Given the description of an element on the screen output the (x, y) to click on. 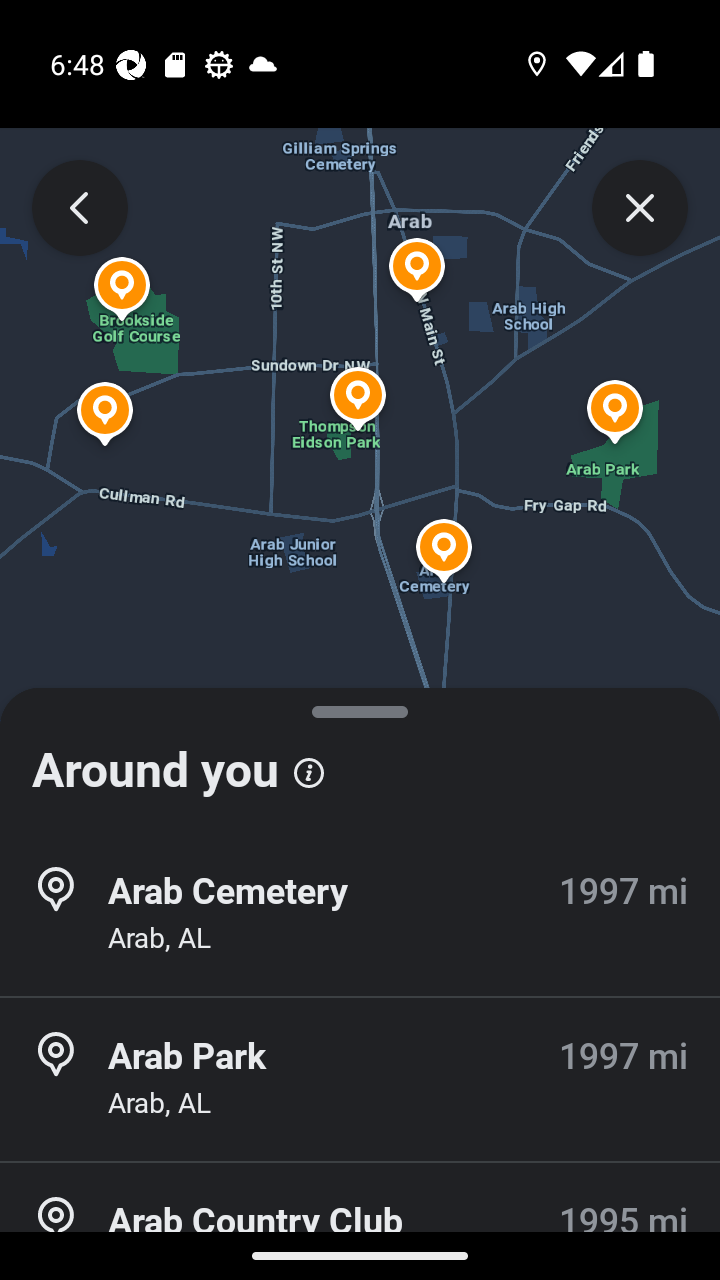
Around you (360, 760)
Arab Cemetery 1997 mi Arab, AL (360, 914)
Arab Park 1997 mi Arab, AL (360, 1079)
Arab Country Club 1995 mi Arab, AL (360, 1221)
